Given the description of an element on the screen output the (x, y) to click on. 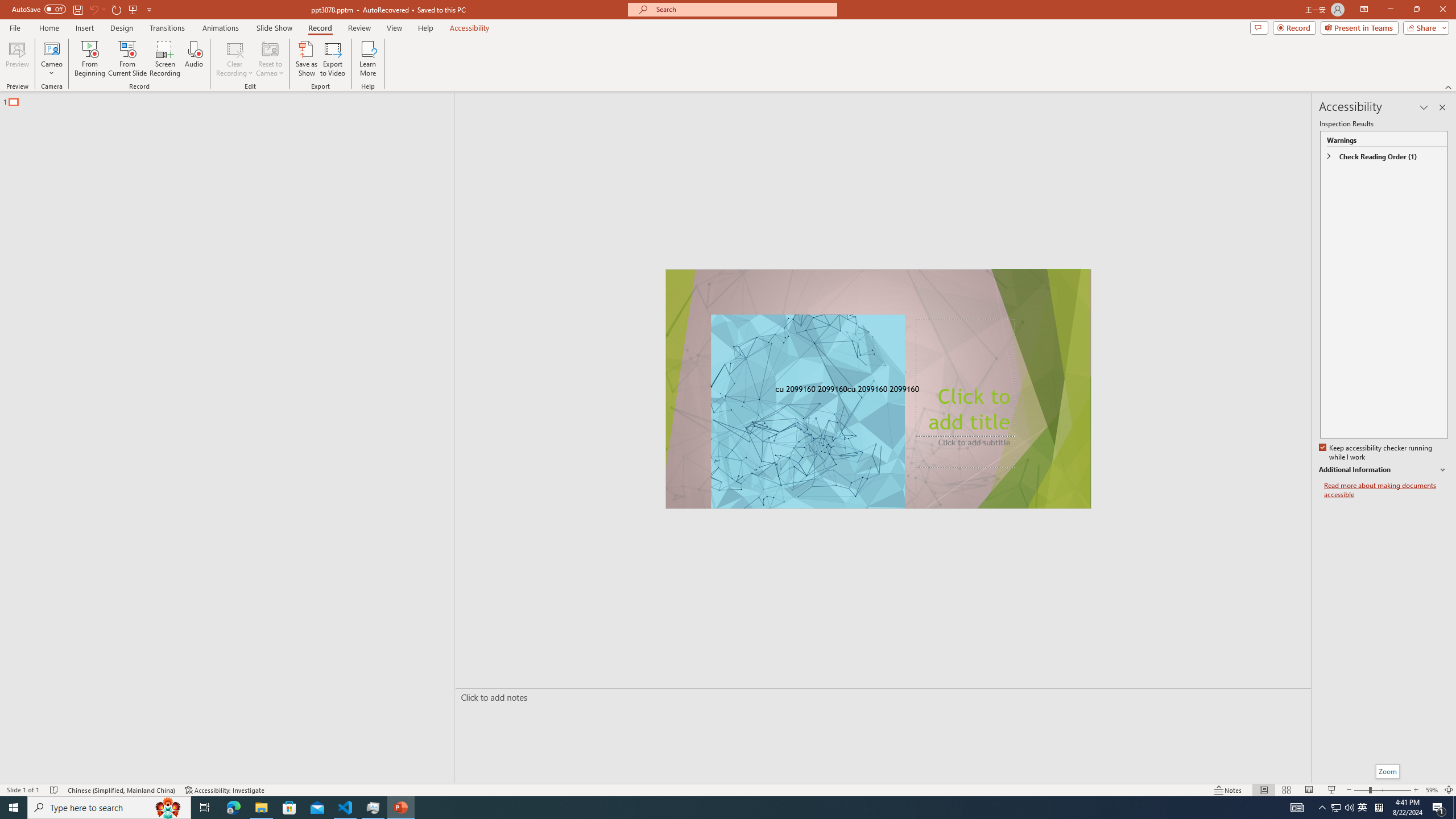
UGround_paper.pdf (686, 26)
SJTUvpn (98, 254)
PyCharm 2022.2 (163, 487)
2311.03658v2.pdf (1210, 254)
Visual Studio 2022 (32, 260)
Xftp 7 (98, 405)
auto.py (163, 708)
